Given the description of an element on the screen output the (x, y) to click on. 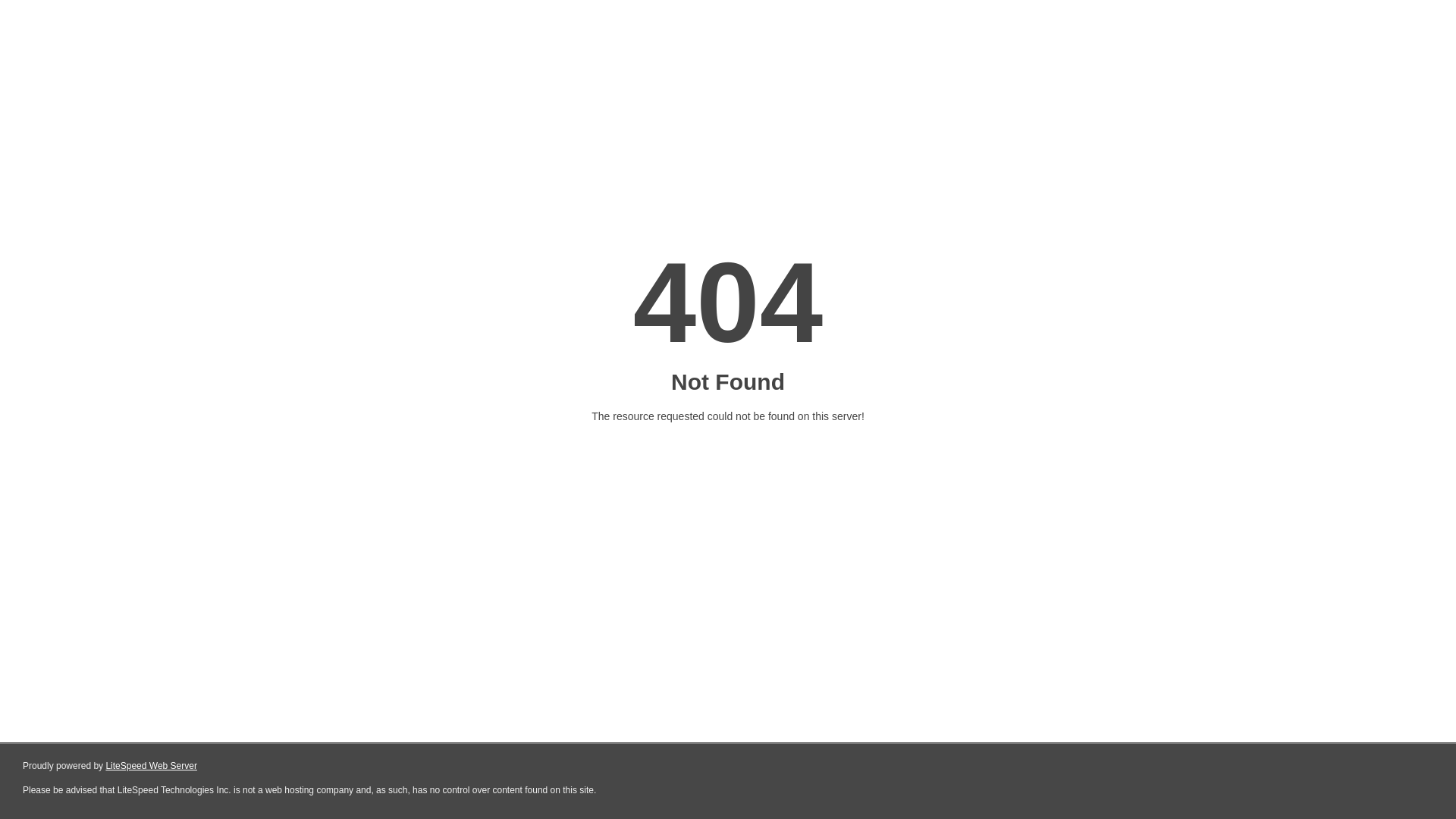
LiteSpeed Web Server Element type: text (151, 765)
